Given the description of an element on the screen output the (x, y) to click on. 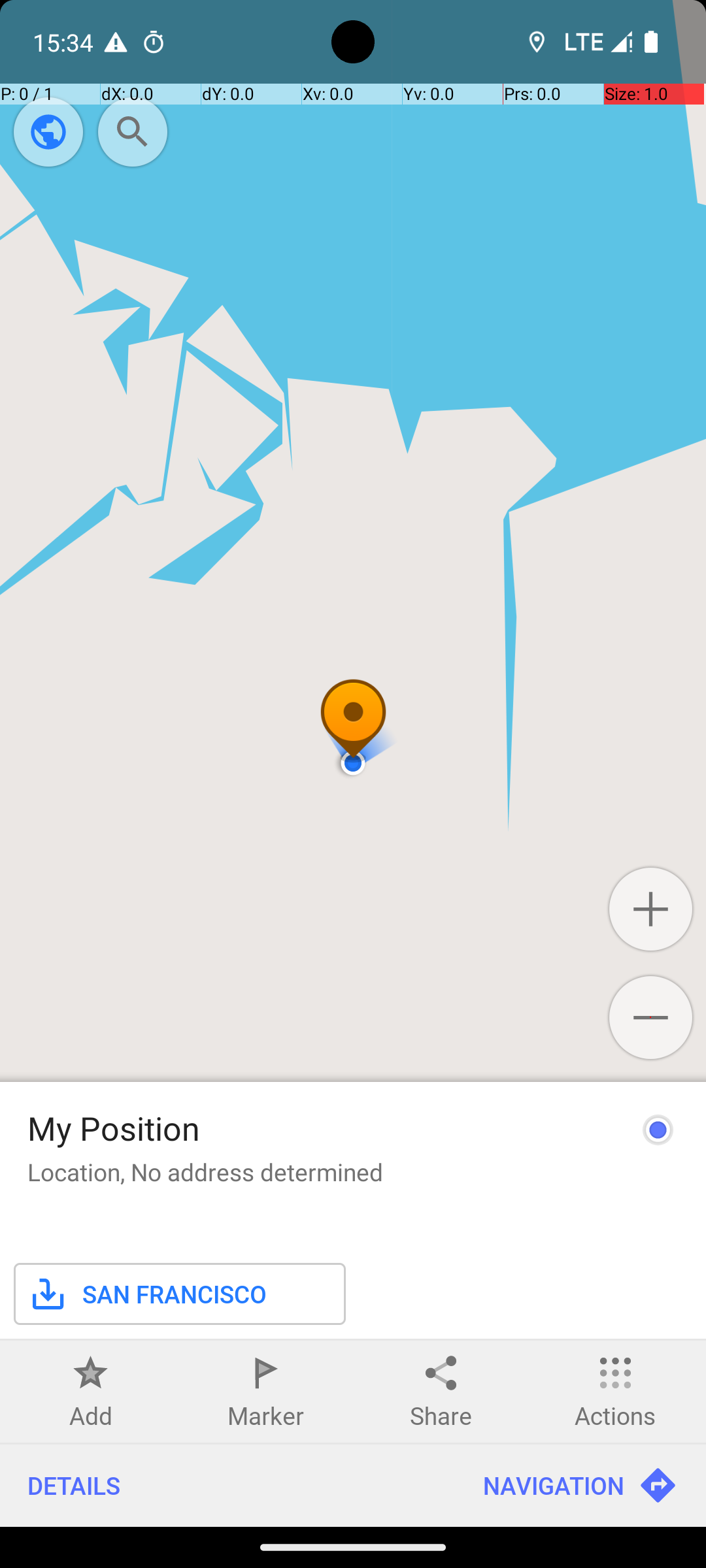
My Position Element type: android.widget.TextView (113, 1127)
Location, No address determined Element type: android.widget.TextView (205, 1171)
DETAILS Element type: android.widget.TextView (227, 1485)
NAVIGATION Element type: android.widget.TextView (580, 1485)
Add Element type: android.widget.TextView (90, 1415)
Marker Element type: android.widget.TextView (265, 1415)
SAN FRANCISCO Element type: android.widget.TextView (146, 1293)
